Given the description of an element on the screen output the (x, y) to click on. 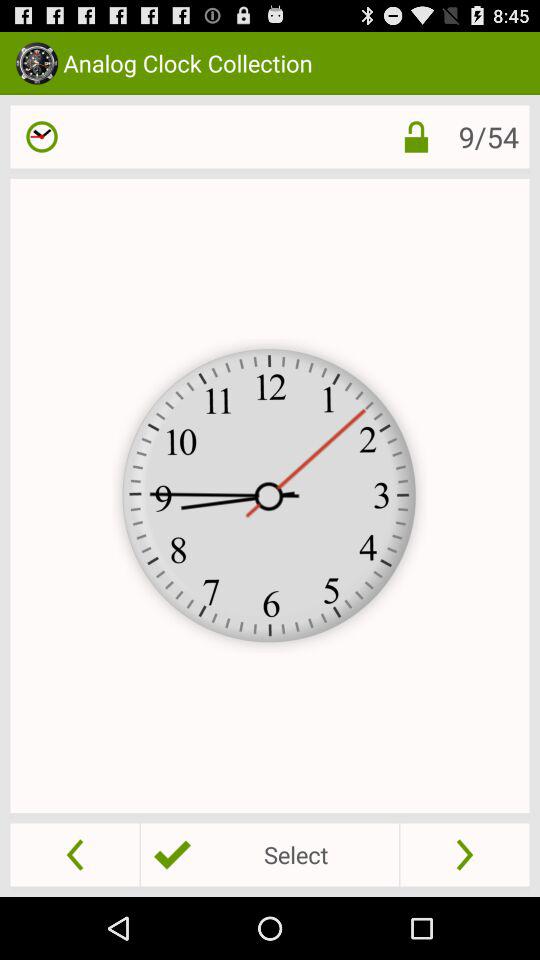
lock setting (400, 136)
